Given the description of an element on the screen output the (x, y) to click on. 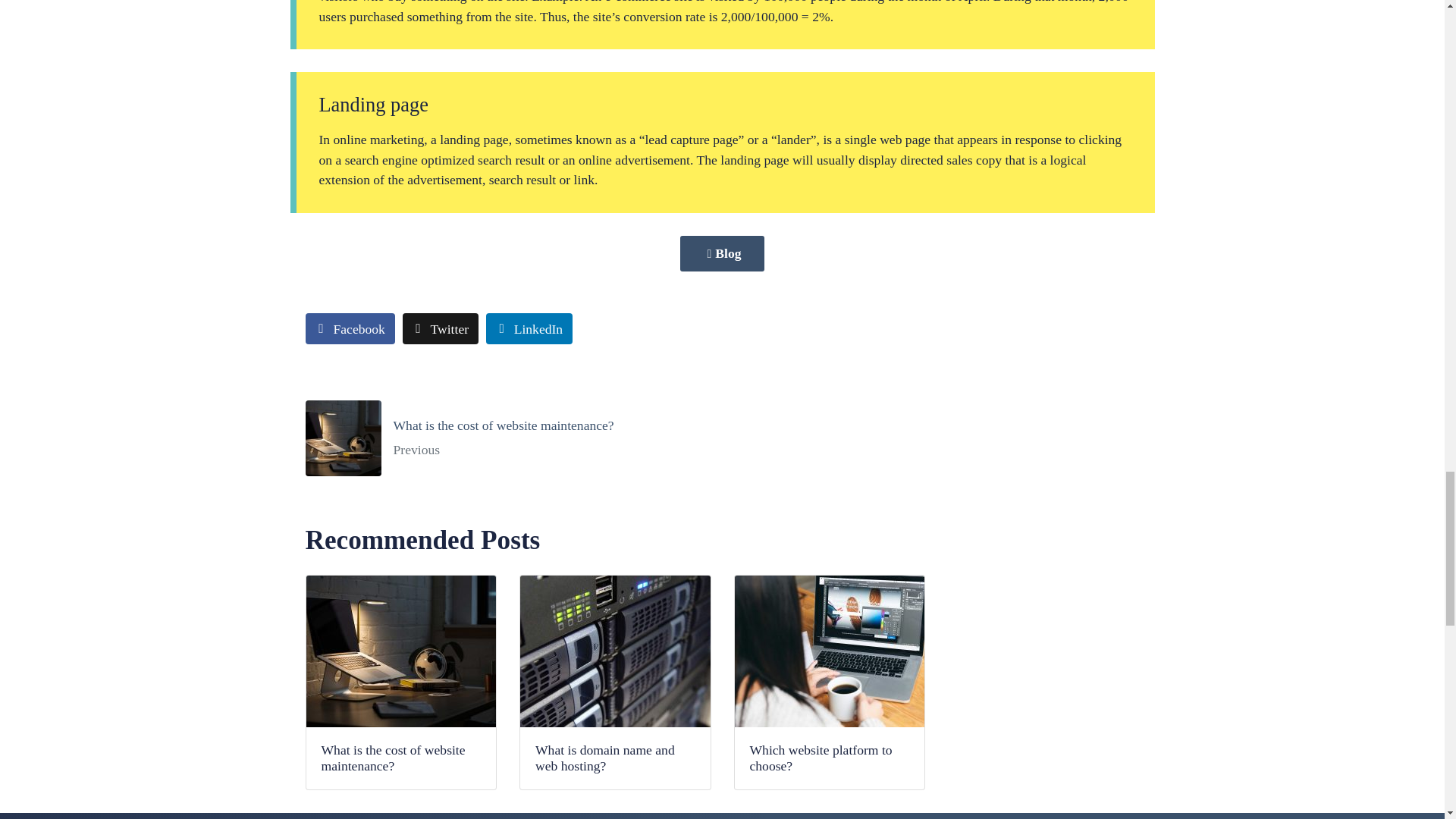
What is the cost of website maintenance? (508, 437)
